Given the description of an element on the screen output the (x, y) to click on. 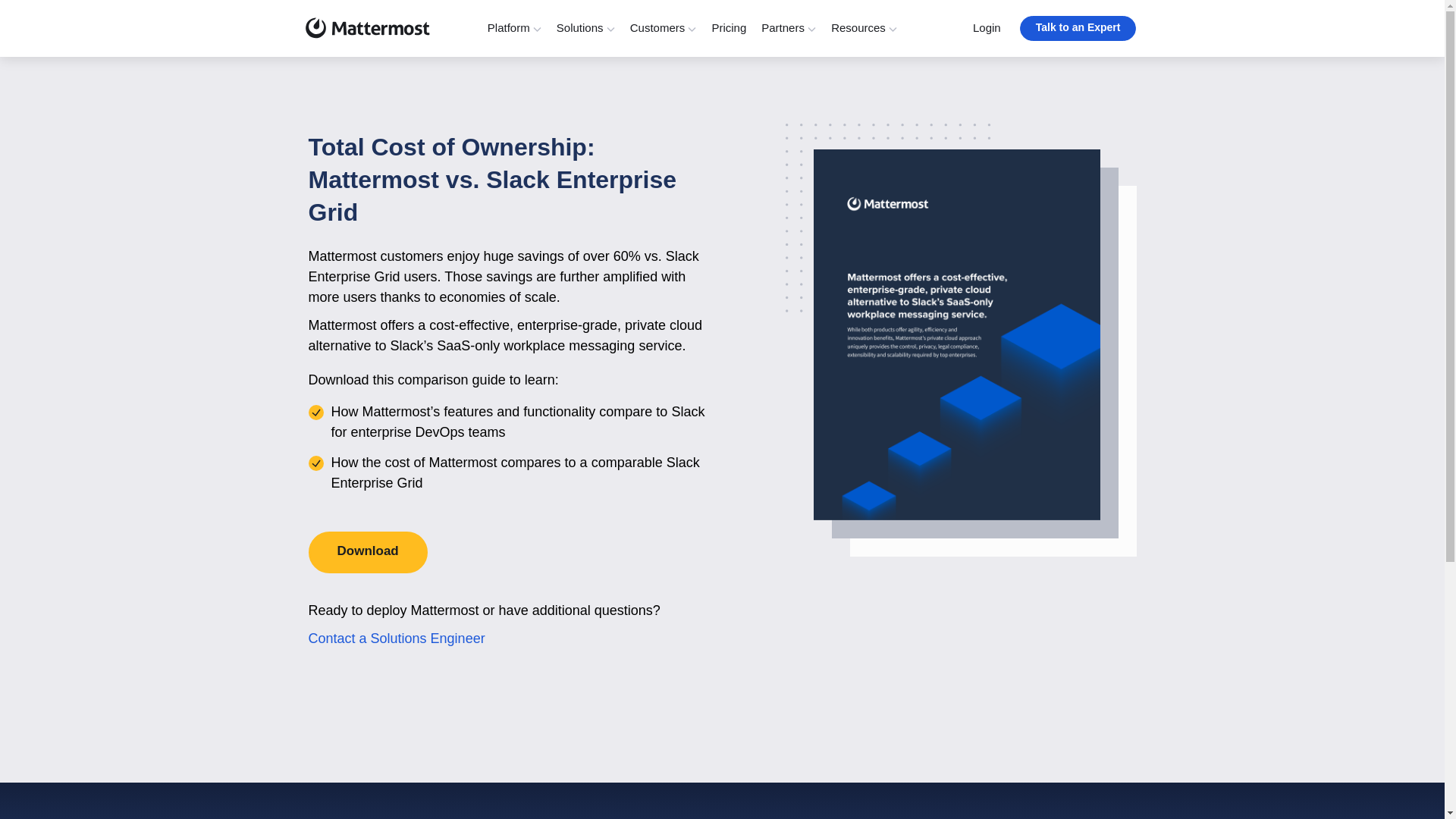
Solutions (585, 28)
Platform (514, 28)
Customers (663, 28)
